Given the description of an element on the screen output the (x, y) to click on. 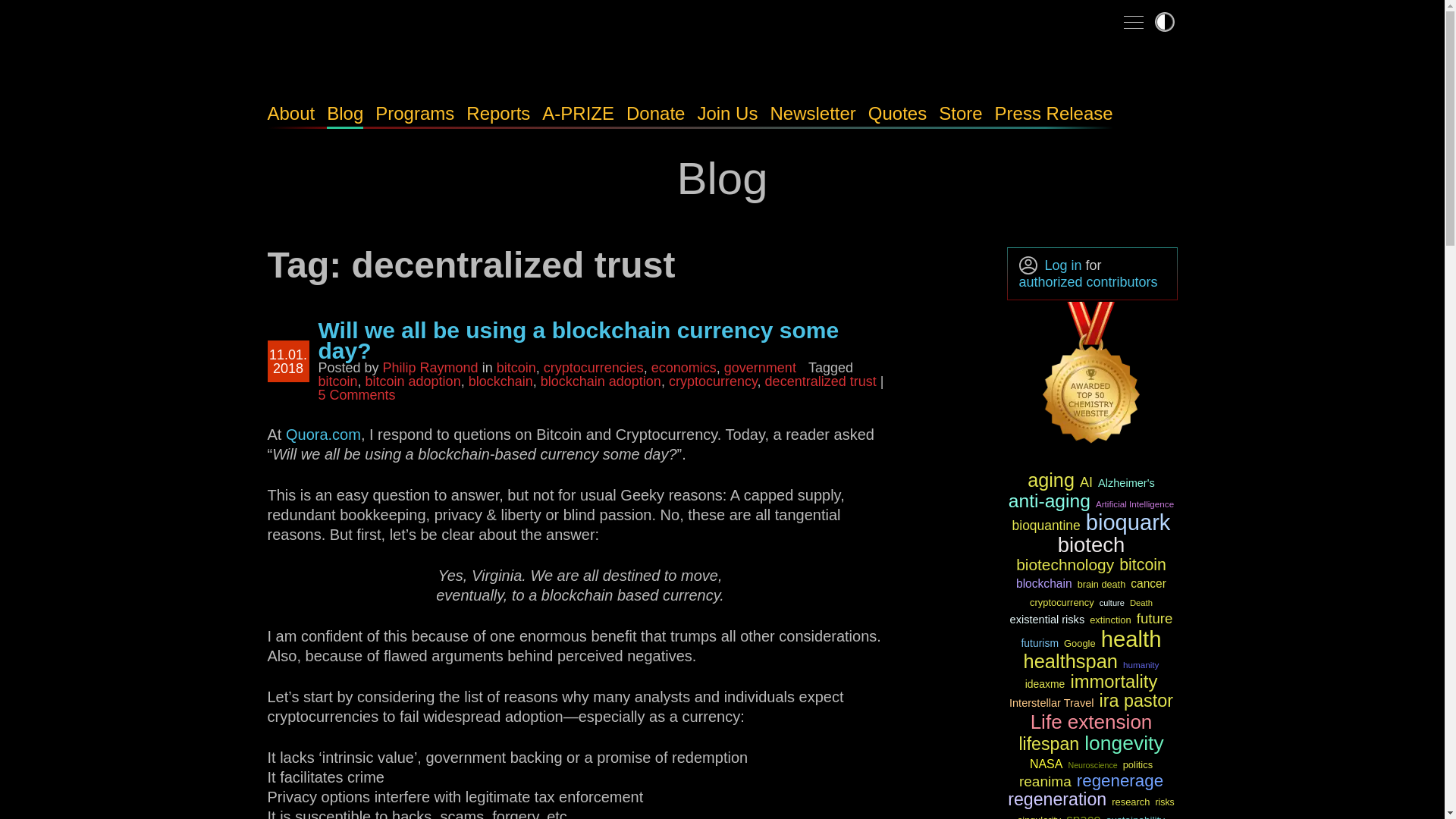
A-PRIZE (577, 113)
Blog (344, 113)
Donate (655, 113)
Store (960, 113)
Press Release (1053, 113)
Quotes (896, 113)
Reports (497, 113)
Join Us (727, 113)
Chemistry Websites (1092, 374)
Newsletter (813, 113)
About (290, 113)
Lifeboat Foundation: Safeguarding Humanity (395, 62)
Programs (414, 113)
